Given the description of an element on the screen output the (x, y) to click on. 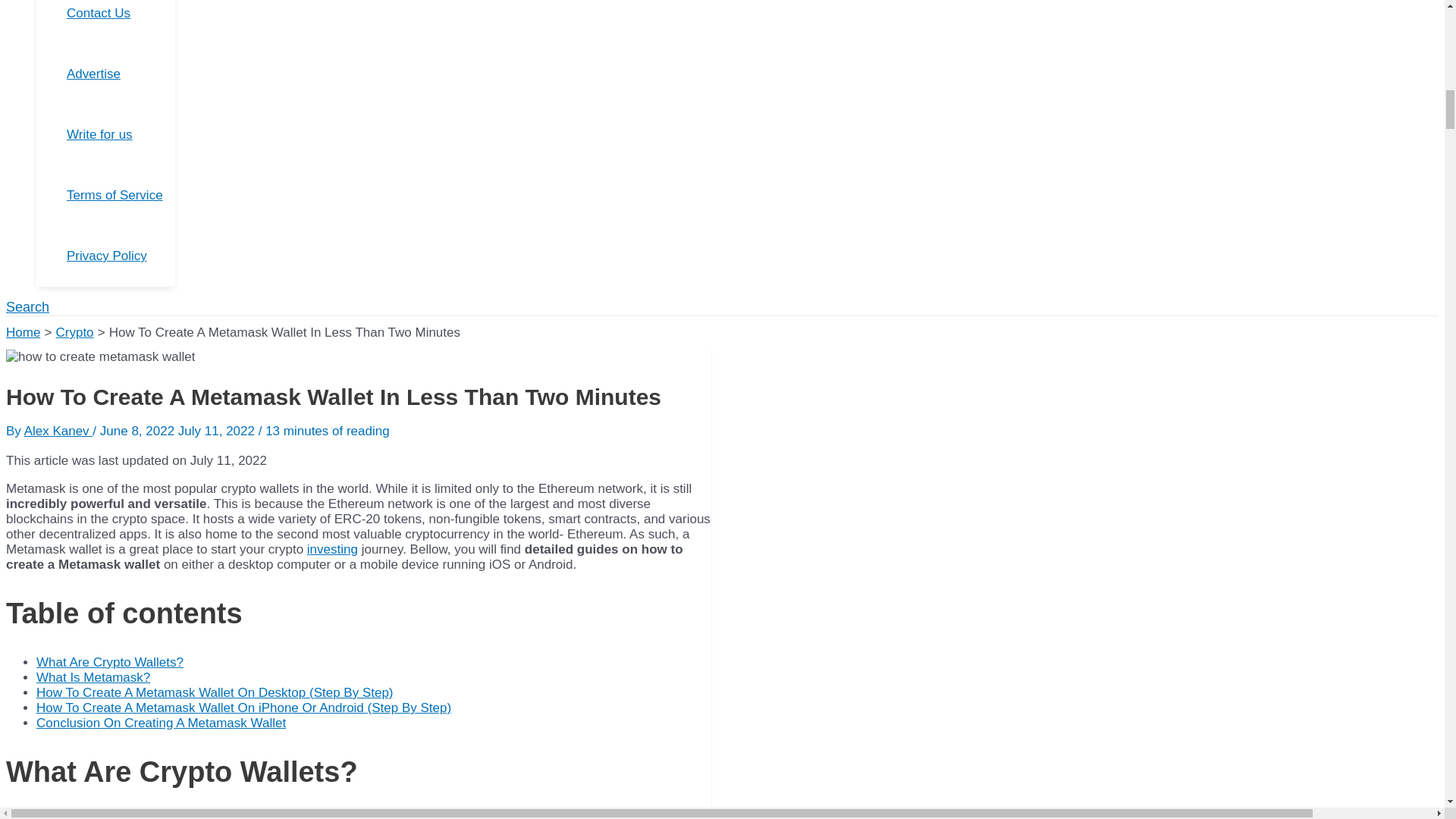
View all posts by Alex Kanev (58, 431)
Search (27, 307)
Contact Us (120, 22)
Write for us (120, 134)
Terms of Service (120, 195)
Privacy Policy (120, 256)
Advertise (120, 74)
